Given the description of an element on the screen output the (x, y) to click on. 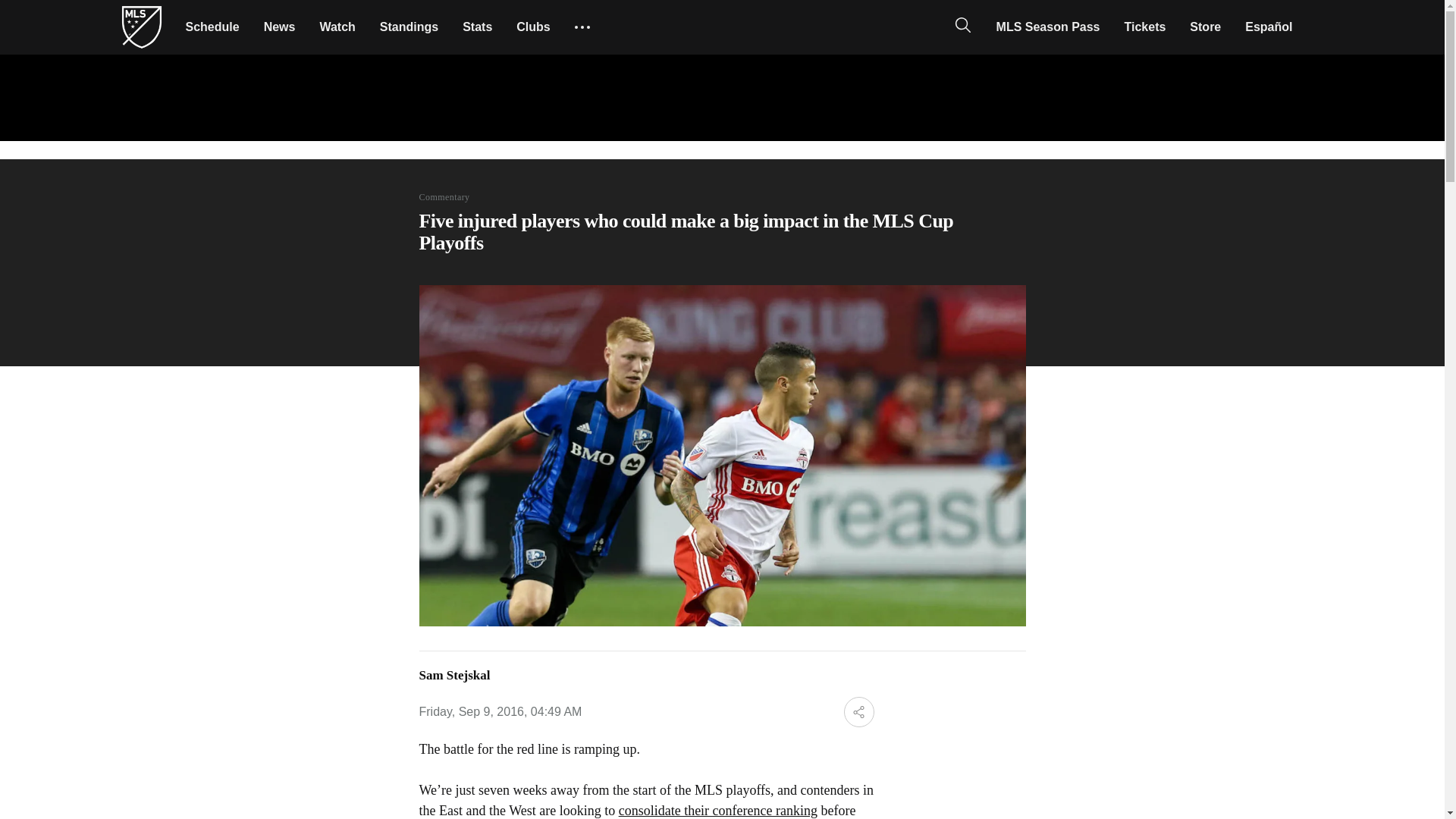
Clubs (532, 26)
Major League Soccer (141, 27)
News (279, 26)
Store (1205, 26)
Stats (476, 26)
Tickets (1144, 26)
MLS Season Pass (1048, 26)
Standings (408, 26)
Watch (336, 26)
Schedule (211, 26)
